Given the description of an element on the screen output the (x, y) to click on. 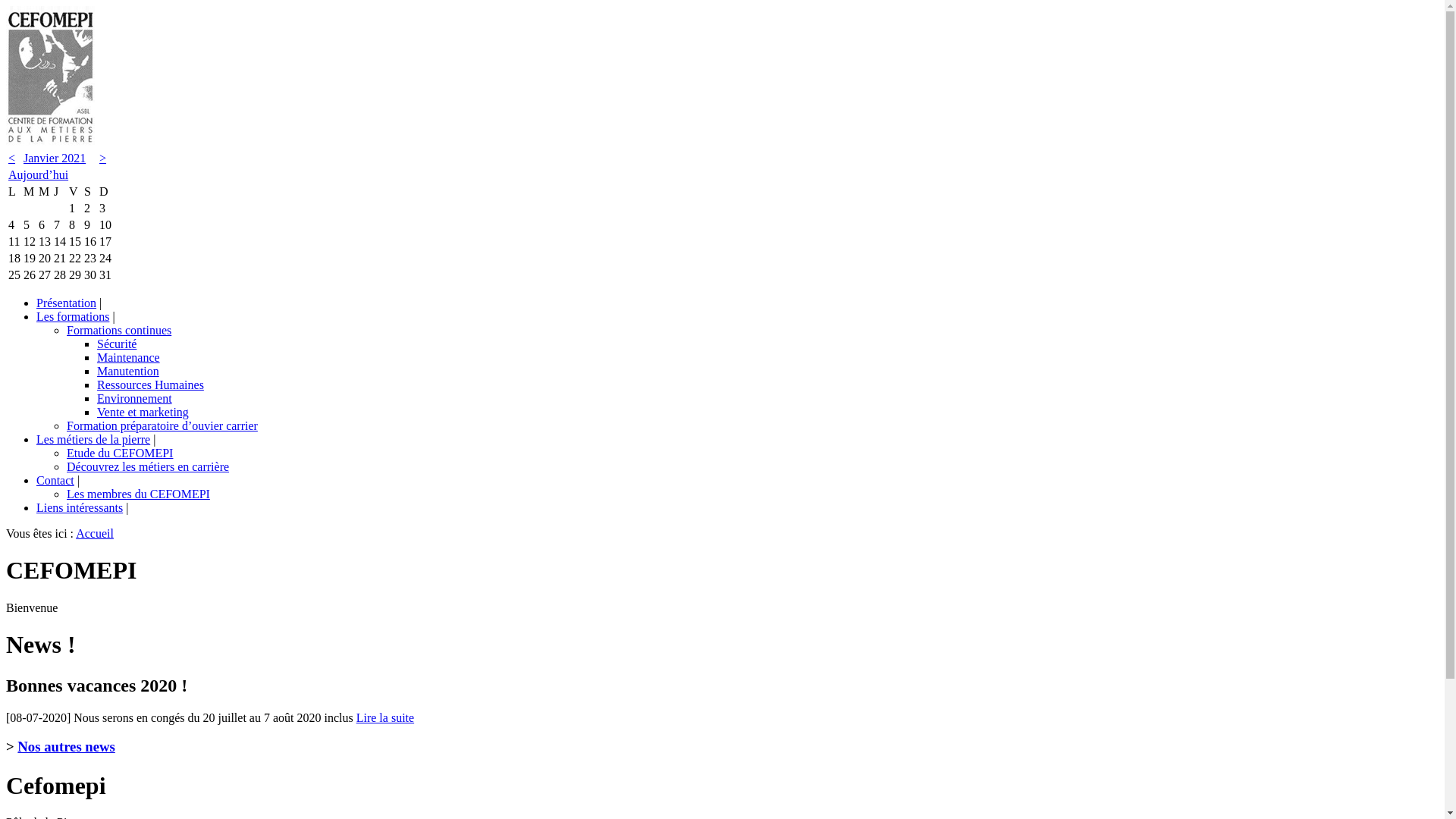
Vente et marketing Element type: text (142, 411)
< Element type: text (11, 157)
Accueil Element type: text (94, 533)
Manutention Element type: text (128, 370)
Maintenance Element type: text (128, 357)
Janvier 2021 Element type: text (54, 157)
Etude du CEFOMEPI Element type: text (119, 452)
> Element type: text (102, 157)
Formations continues Element type: text (118, 329)
Les membres du CEFOMEPI Element type: text (138, 493)
Lire la suite Element type: text (385, 717)
Nos autres news Element type: text (66, 746)
Les formations Element type: text (72, 316)
Environnement Element type: text (134, 398)
Contact Element type: text (55, 479)
Ressources Humaines Element type: text (150, 384)
